Given the description of an element on the screen output the (x, y) to click on. 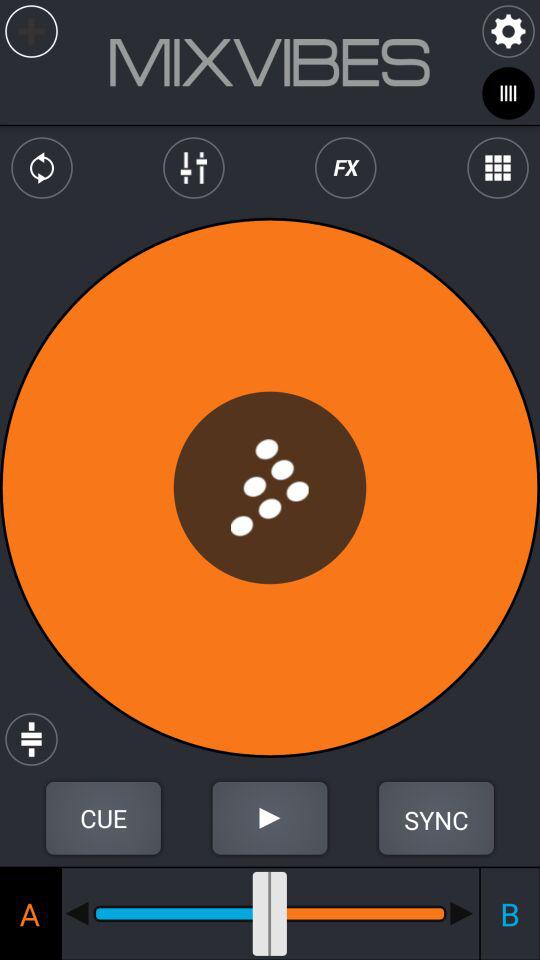
toggle effects (345, 167)
